Given the description of an element on the screen output the (x, y) to click on. 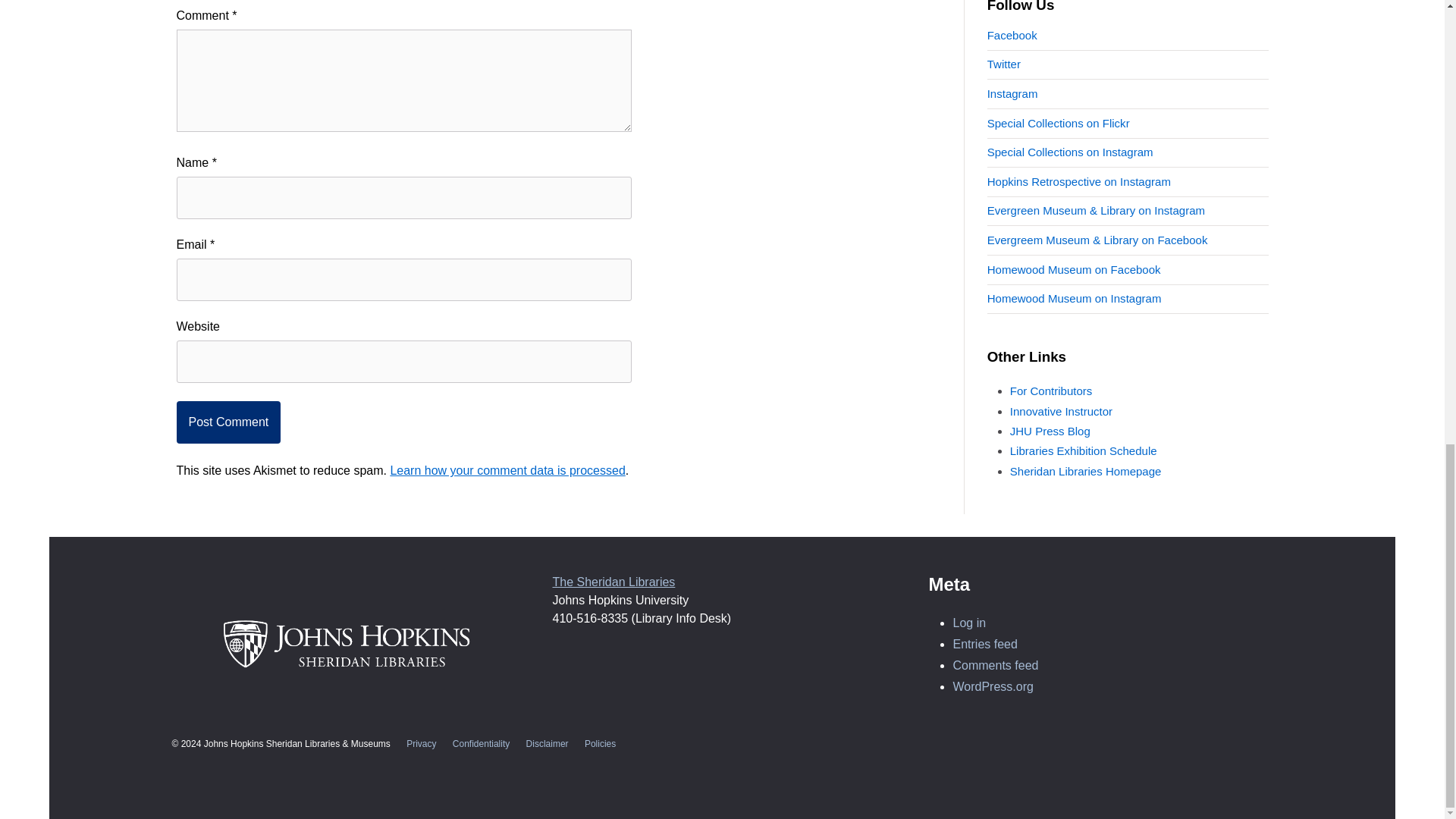
Twitter (1003, 63)
Instagram (1012, 92)
Learn how your comment data is processed (507, 470)
Post Comment (228, 422)
Post Comment (228, 422)
Facebook (1011, 34)
